Given the description of an element on the screen output the (x, y) to click on. 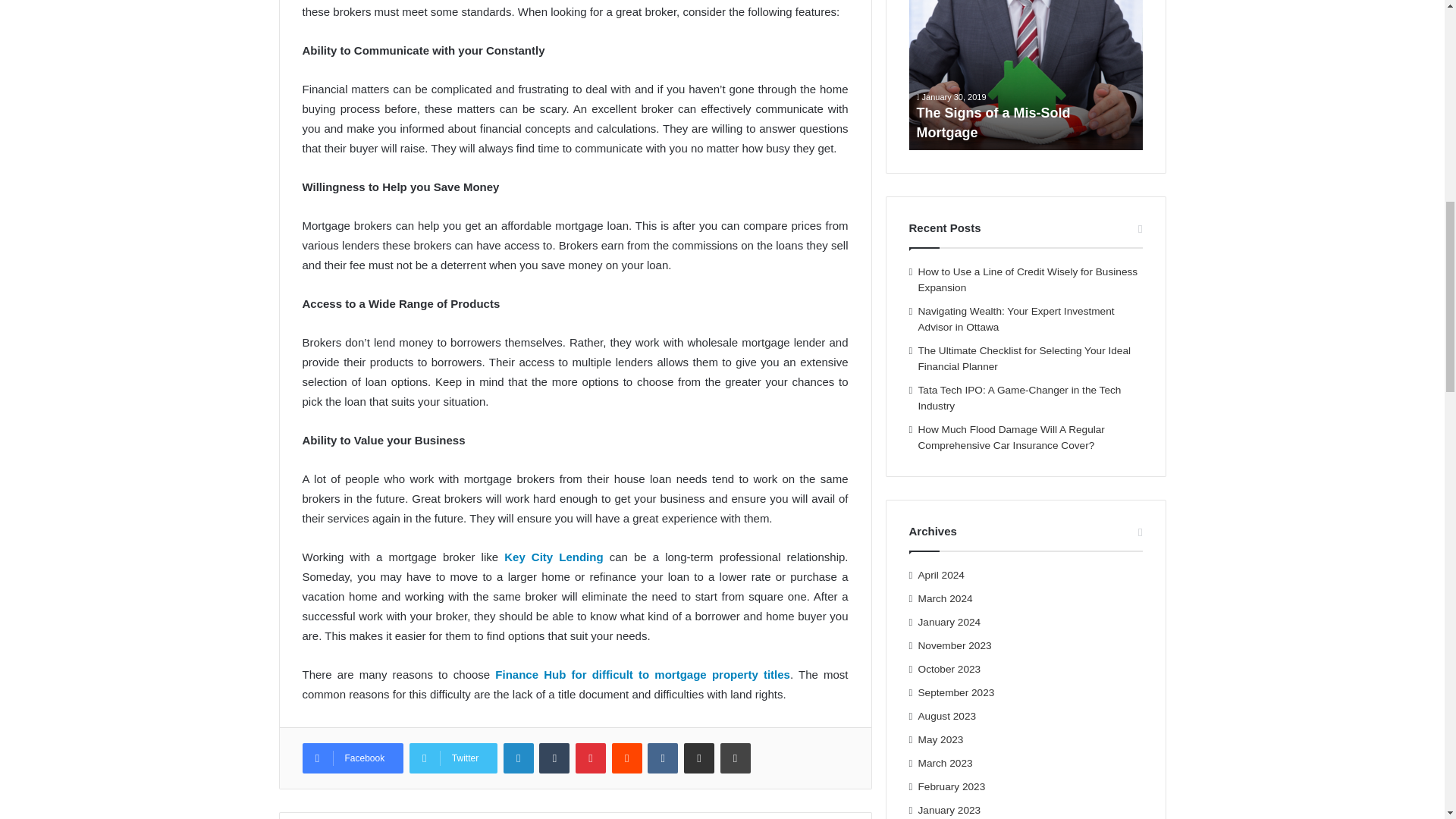
Twitter (453, 757)
Pinterest (590, 757)
Print (735, 757)
Facebook (352, 757)
Key City Lending (552, 556)
Pinterest (590, 757)
Reddit (626, 757)
Tumblr (553, 757)
Share via Email (699, 757)
Share via Email (699, 757)
VKontakte (662, 757)
Finance Hub for difficult to mortgage property titles (642, 674)
VKontakte (662, 757)
Tumblr (553, 757)
LinkedIn (518, 757)
